Given the description of an element on the screen output the (x, y) to click on. 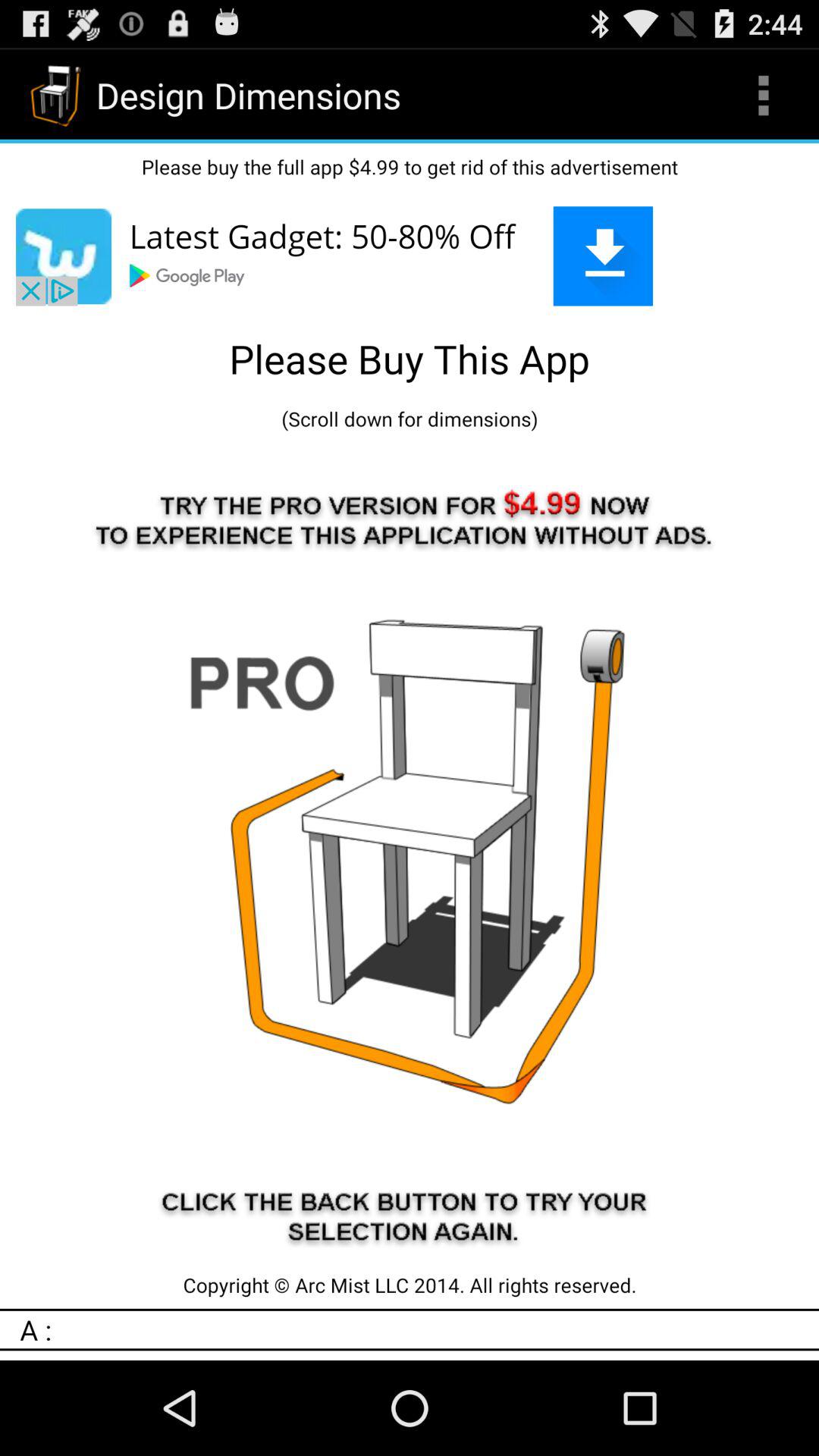
press the item above the please buy this app (409, 255)
